Given the description of an element on the screen output the (x, y) to click on. 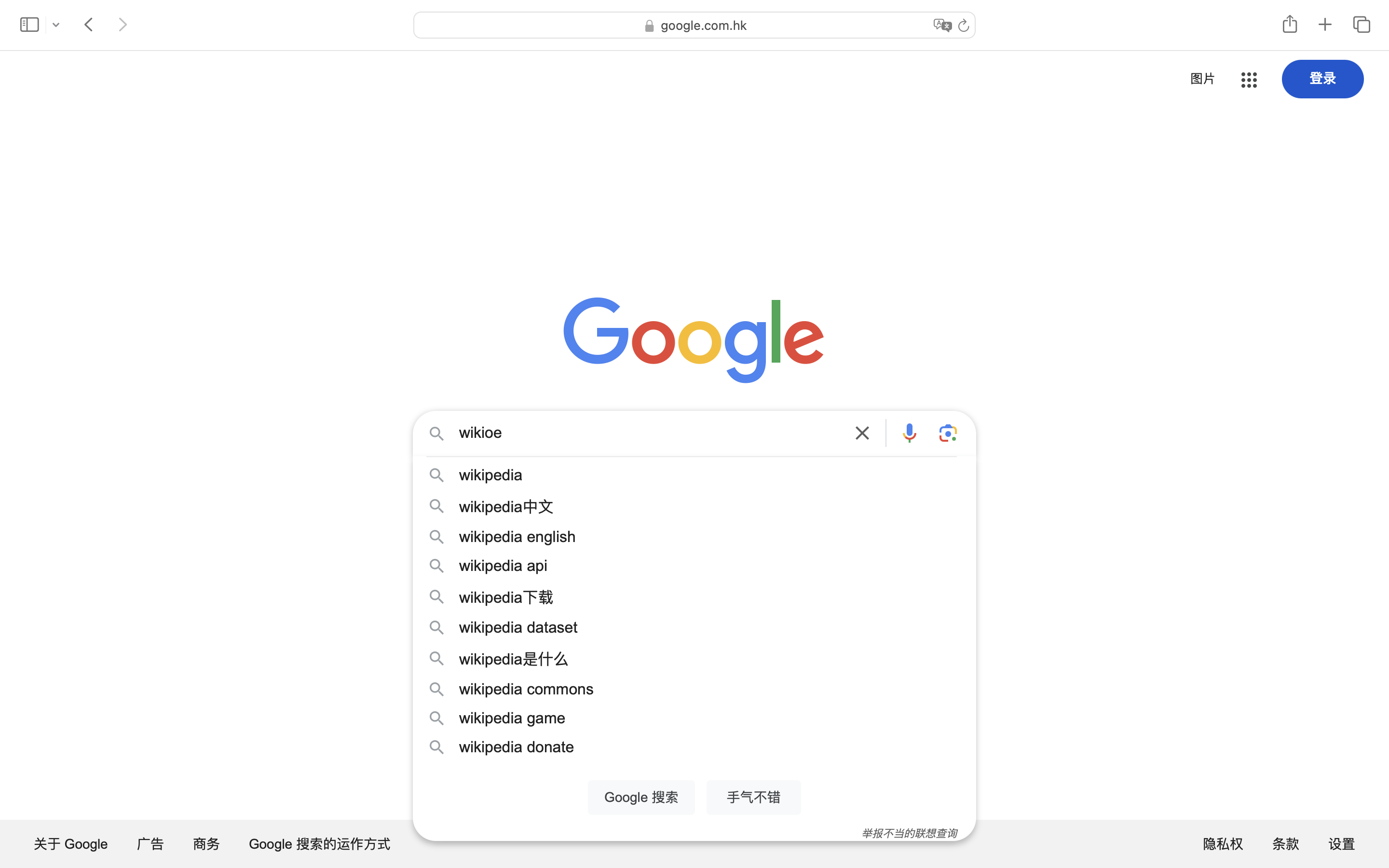
图片 Element type: AXStaticText (1202, 78)
商务 Element type: AXStaticText (206, 843)
广告 Element type: AXStaticText (150, 843)
条款 Element type: AXStaticText (1285, 843)
登录 Element type: AXStaticText (1322, 77)
